Given the description of an element on the screen output the (x, y) to click on. 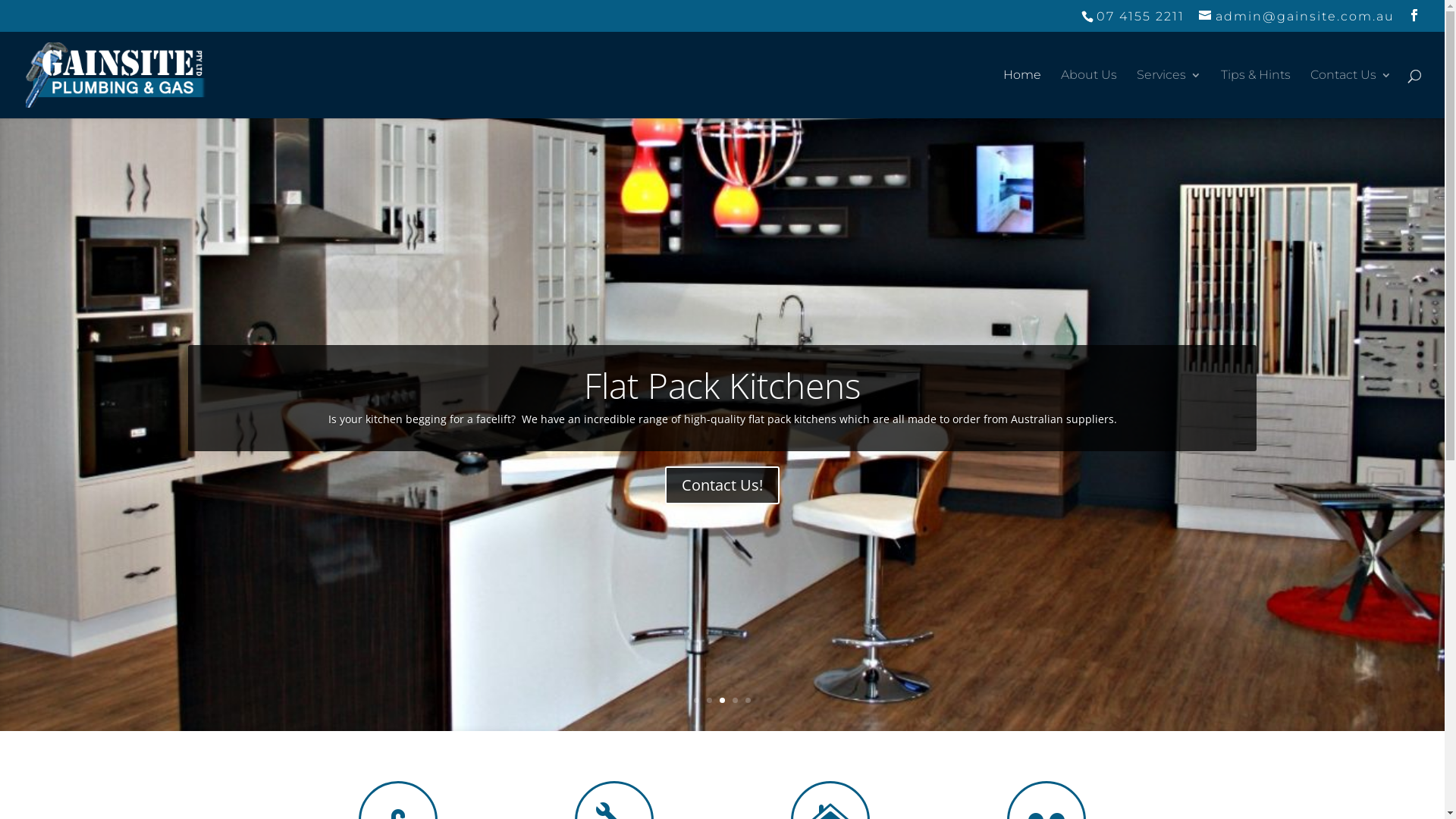
4 Element type: text (734, 699)
1 Element type: text (696, 699)
Flat Pack Kitchens Element type: text (721, 384)
Contact Us Element type: text (1350, 93)
3 Element type: text (721, 699)
About Us Element type: text (1088, 93)
admin@gainsite.com.au Element type: text (1296, 16)
5 Element type: text (747, 699)
Home Element type: text (1022, 93)
Tips & Hints Element type: text (1255, 93)
Services Element type: text (1168, 93)
Contact Us! Element type: text (722, 485)
07 4155 2211 Element type: text (1137, 16)
2 Element type: text (709, 699)
